Given the description of an element on the screen output the (x, y) to click on. 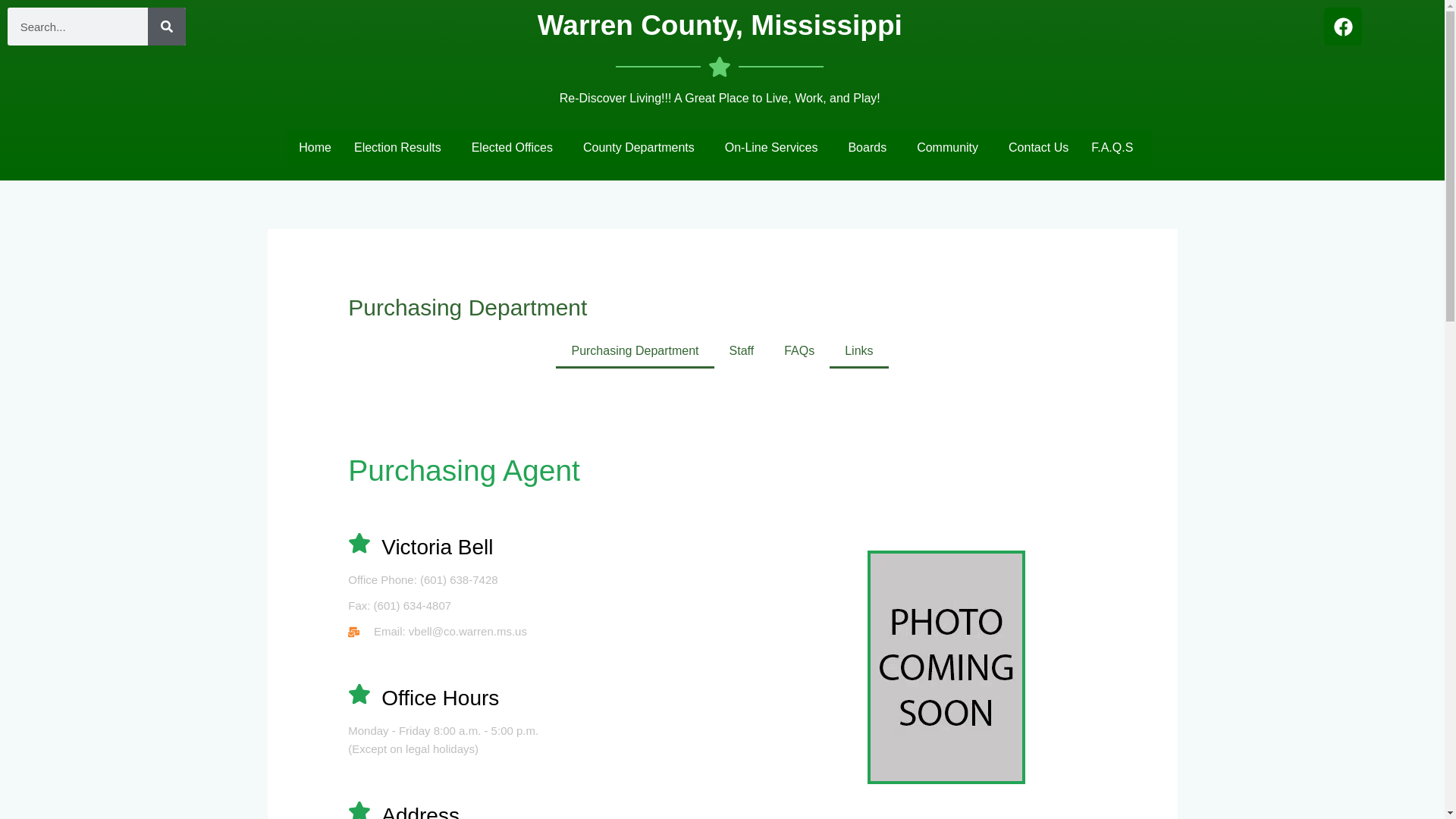
Election Results (401, 147)
Home (314, 147)
Search (167, 26)
County Departments (642, 147)
Elected Offices (516, 147)
